Given the description of an element on the screen output the (x, y) to click on. 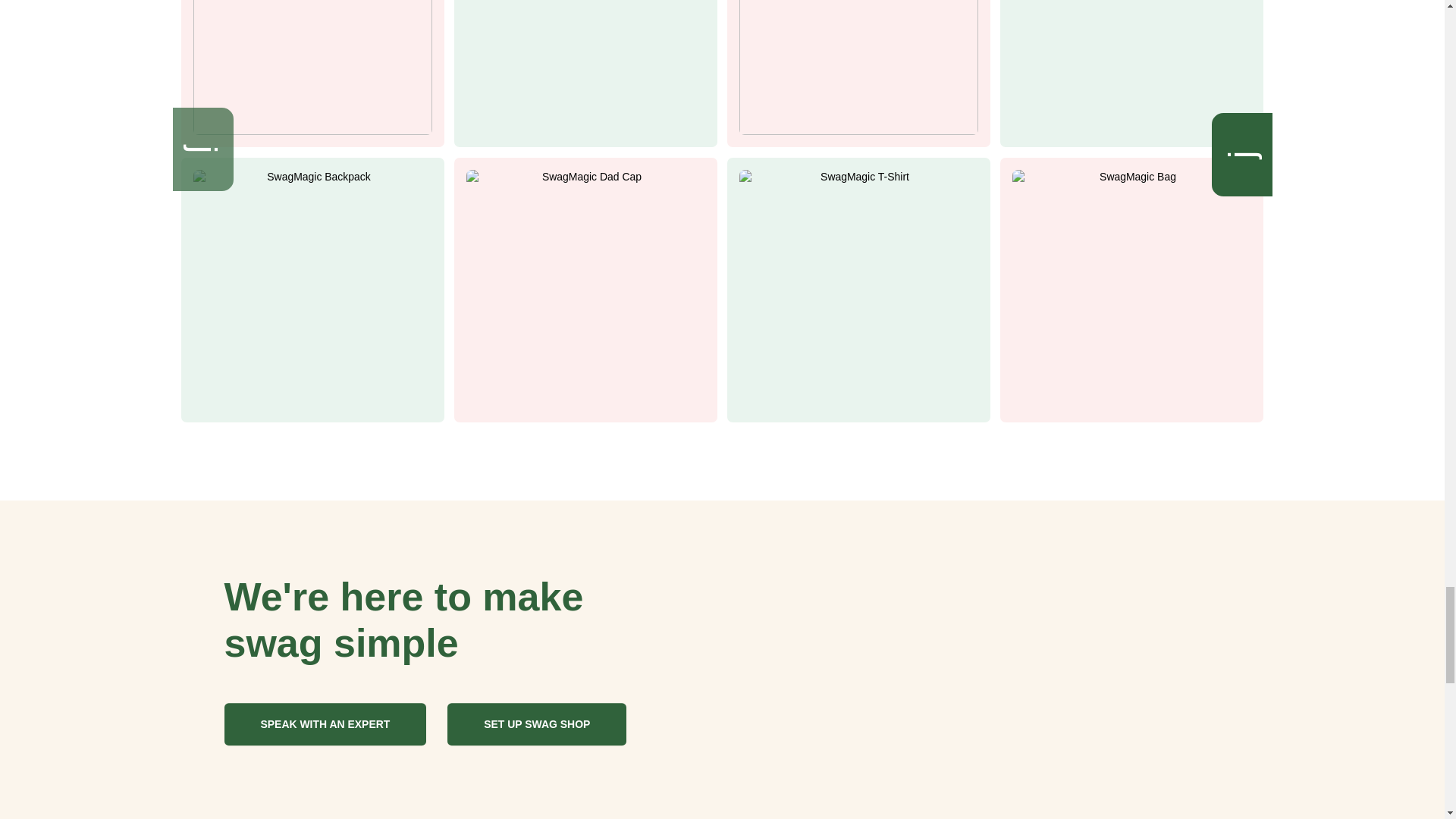
Next (1253, 143)
SPEAK WITH AN EXPERT (325, 723)
Previous (214, 137)
SET UP SWAG SHOP (536, 723)
